Given the description of an element on the screen output the (x, y) to click on. 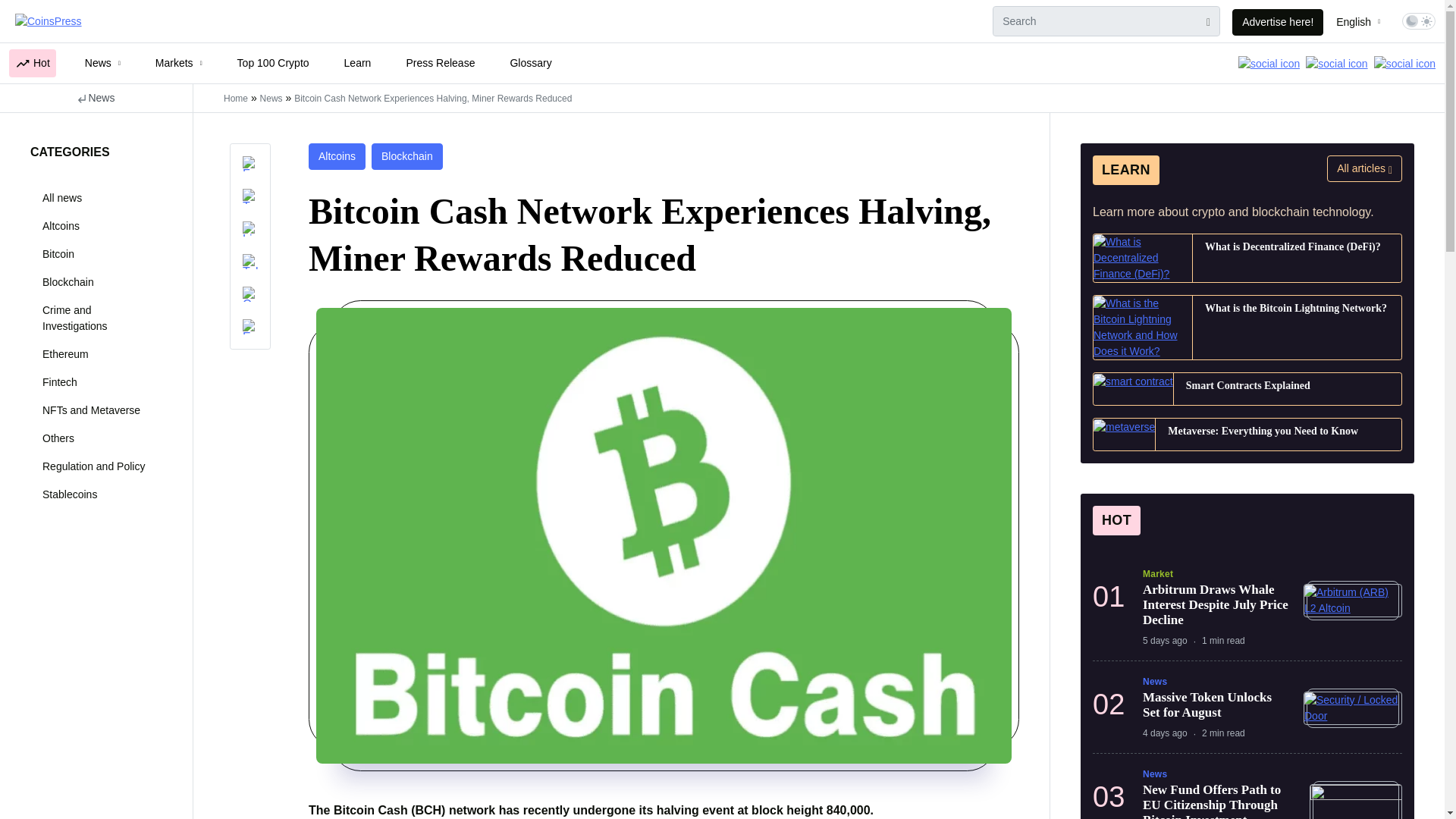
All news (94, 198)
Learn (357, 62)
Ethereum (94, 354)
on (1418, 21)
Markets (178, 62)
LinkedIn (250, 230)
Bitcoin (94, 254)
Hot (32, 62)
Email (250, 327)
Press Release (439, 62)
English (1356, 22)
Crime and Investigations (94, 318)
Home (235, 98)
Telegram (250, 262)
Glossary (530, 62)
